Given the description of an element on the screen output the (x, y) to click on. 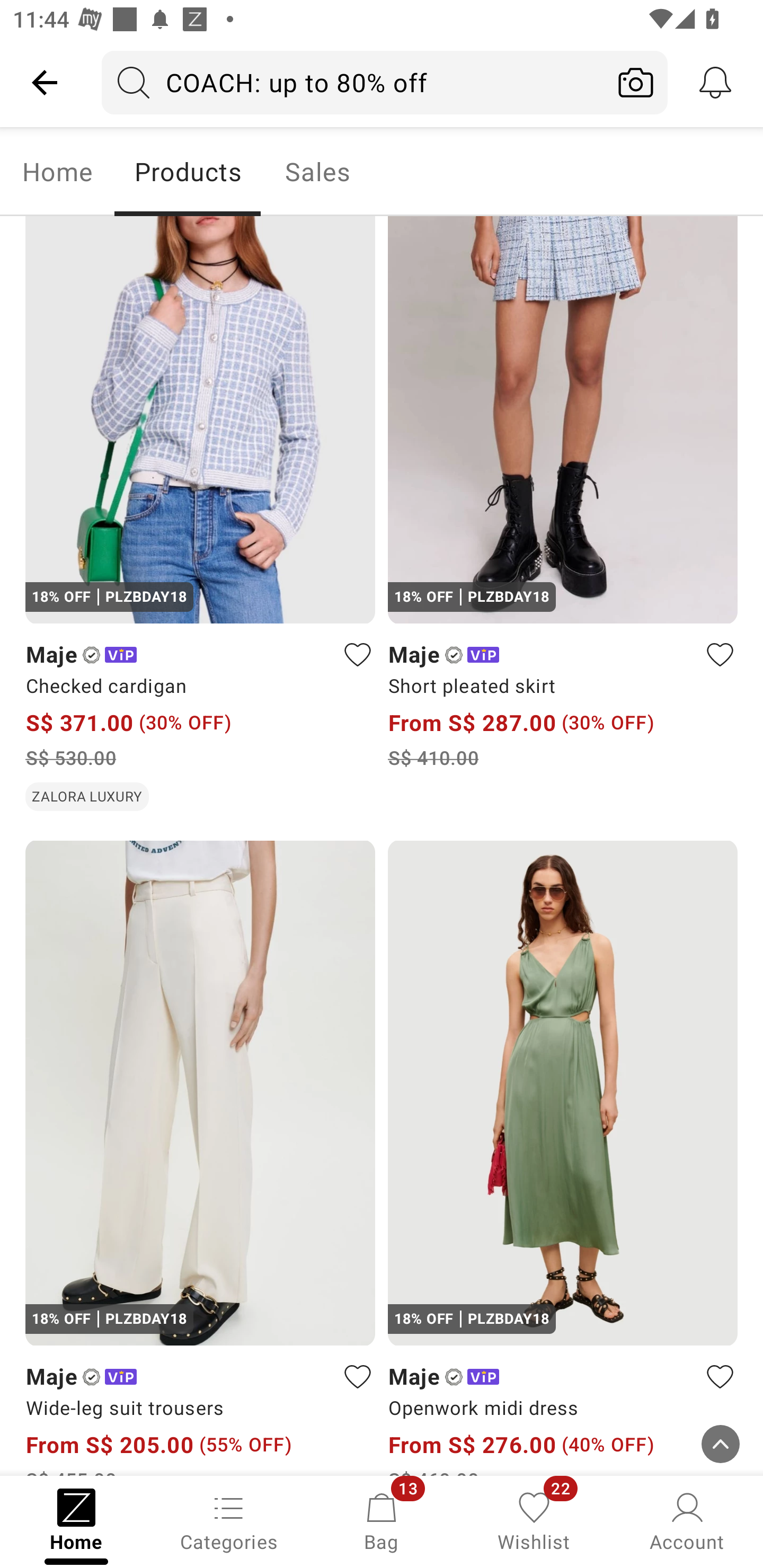
Navigate up (44, 82)
COACH: up to 80% off (352, 82)
Home (57, 171)
Sales (317, 171)
Categories (228, 1519)
Bag, 13 new notifications Bag (381, 1519)
Wishlist, 22 new notifications Wishlist (533, 1519)
Account (686, 1519)
